Given the description of an element on the screen output the (x, y) to click on. 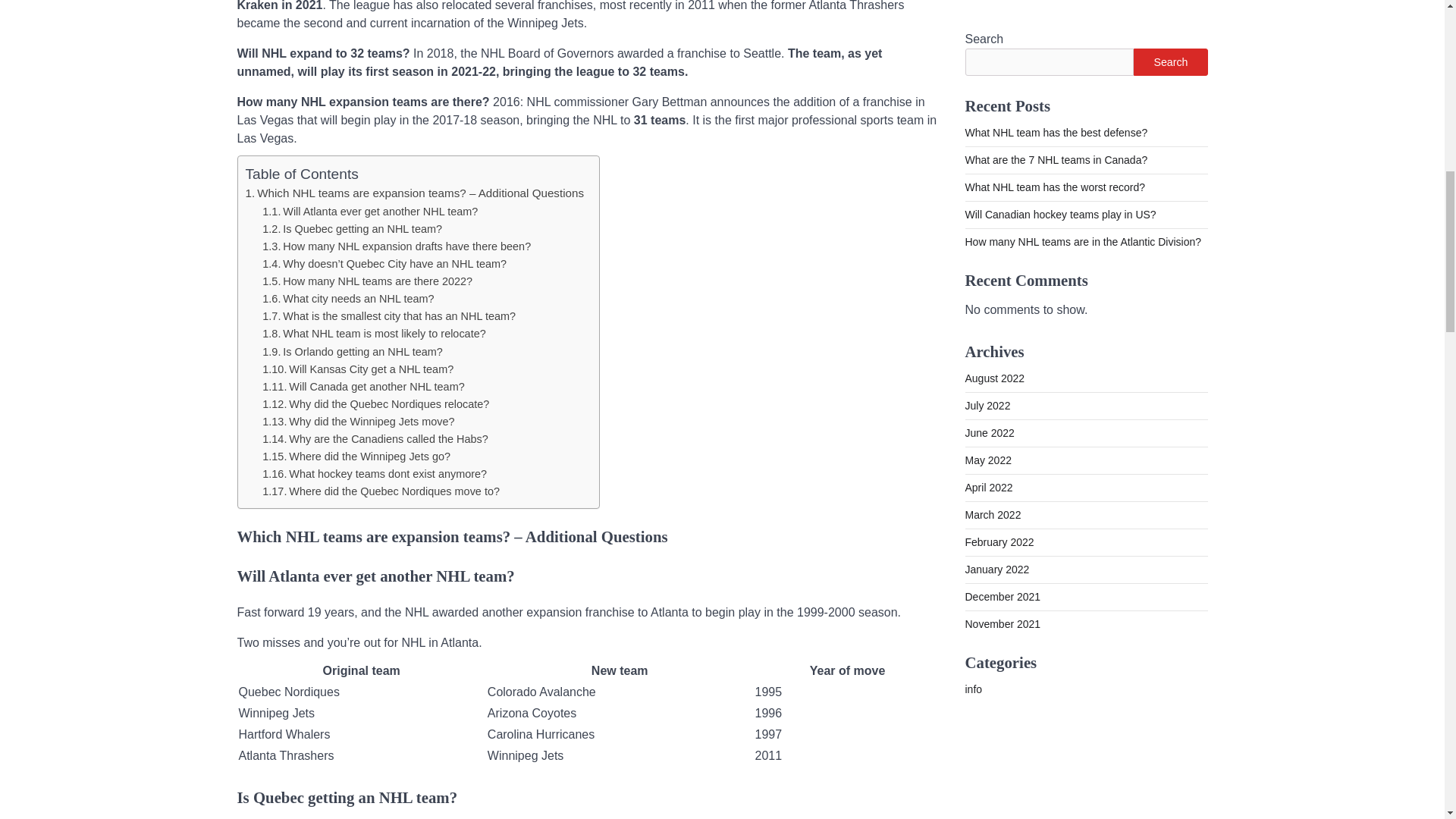
Why did the Winnipeg Jets move? (358, 421)
Why are the Canadiens called the Habs? (374, 439)
What hockey teams dont exist anymore? (374, 473)
How many NHL teams are there 2022? (366, 281)
Is Orlando getting an NHL team? (352, 351)
Why did the Quebec Nordiques relocate? (375, 404)
What city needs an NHL team? (347, 298)
Is Quebec getting an NHL team? (352, 228)
Will Kansas City get a NHL team? (357, 369)
Will Canada get another NHL team? (363, 386)
